Given the description of an element on the screen output the (x, y) to click on. 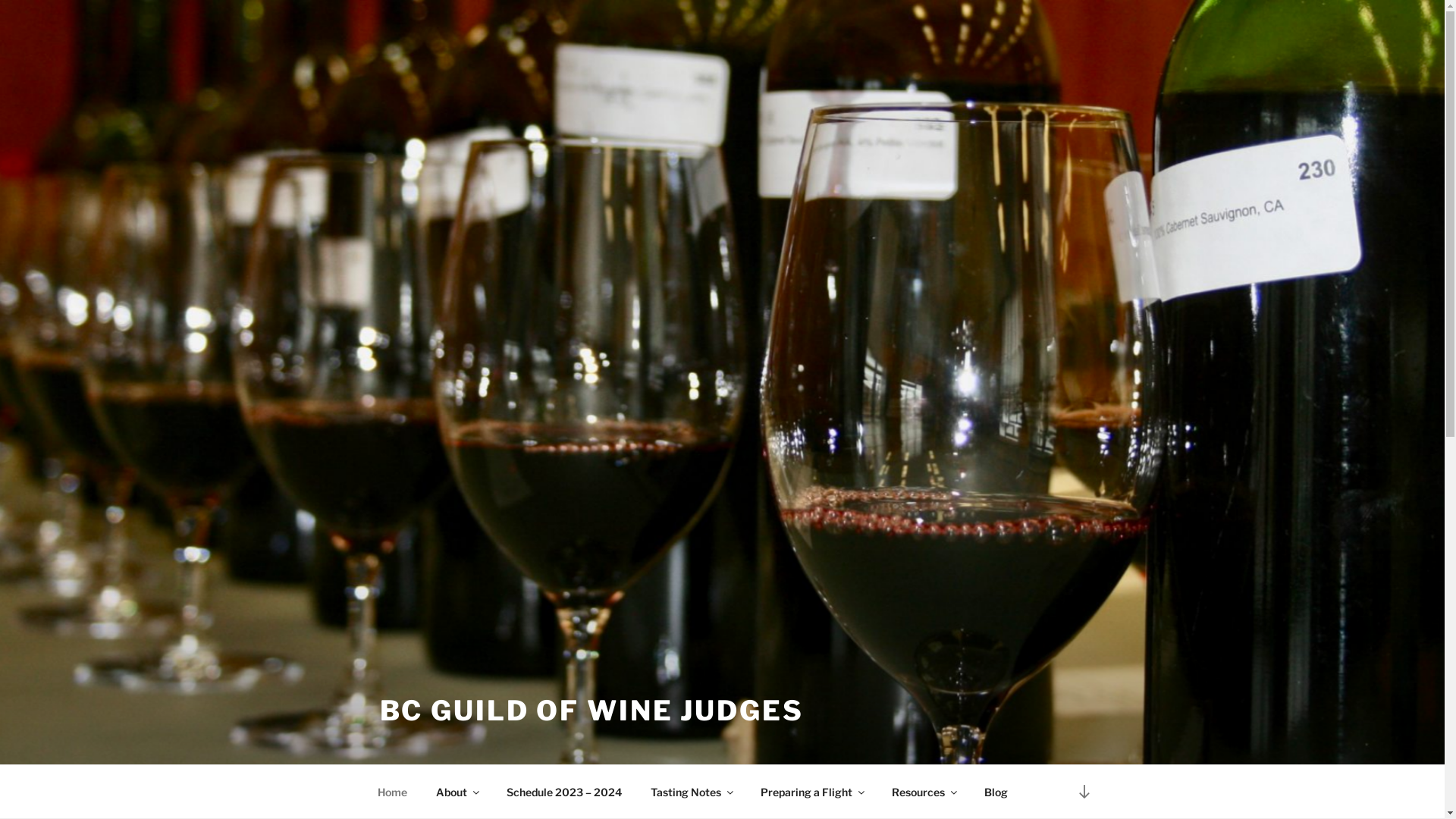
Tasting Notes Element type: text (690, 791)
About Element type: text (457, 791)
Skip to content Element type: text (0, 0)
Scroll down to content Element type: text (1083, 790)
BC GUILD OF WINE JUDGES Element type: text (591, 710)
Home Element type: text (392, 791)
Blog Element type: text (995, 791)
Resources Element type: text (923, 791)
Preparing a Flight Element type: text (811, 791)
